Given the description of an element on the screen output the (x, y) to click on. 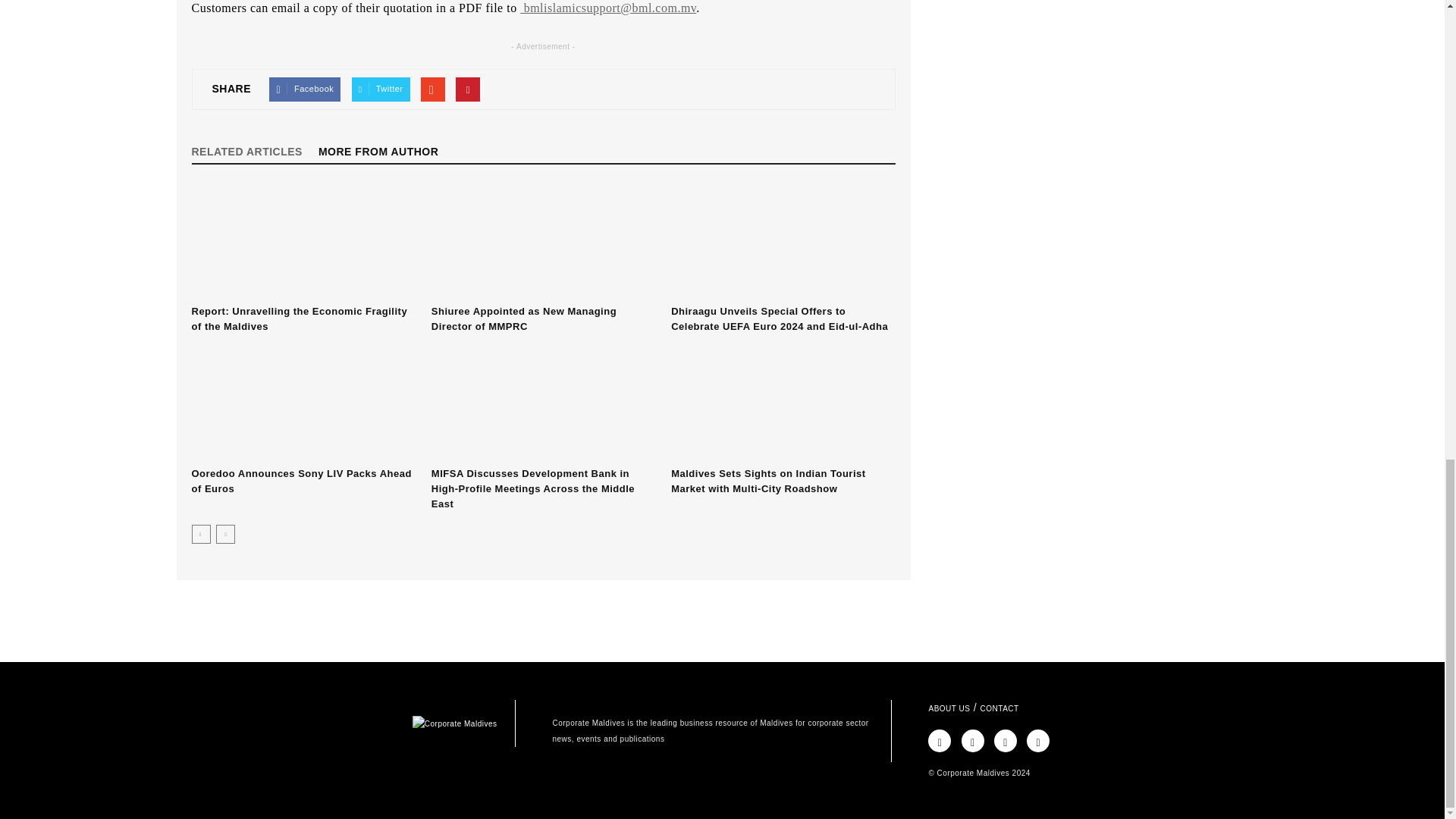
Report: Unravelling the Economic Fragility of the Maldives (298, 318)
Twitter (381, 88)
Shiuree Appointed as New Managing Director of MMPRC (522, 318)
Ooredoo Announces Sony LIV Packs Ahead of Euros (302, 404)
Report: Unravelling the Economic Fragility of the Maldives (302, 241)
Shiuree Appointed as New Managing Director of MMPRC (542, 241)
Ooredoo Announces Sony LIV Packs Ahead of Euros (300, 480)
Facebook (304, 88)
